Given the description of an element on the screen output the (x, y) to click on. 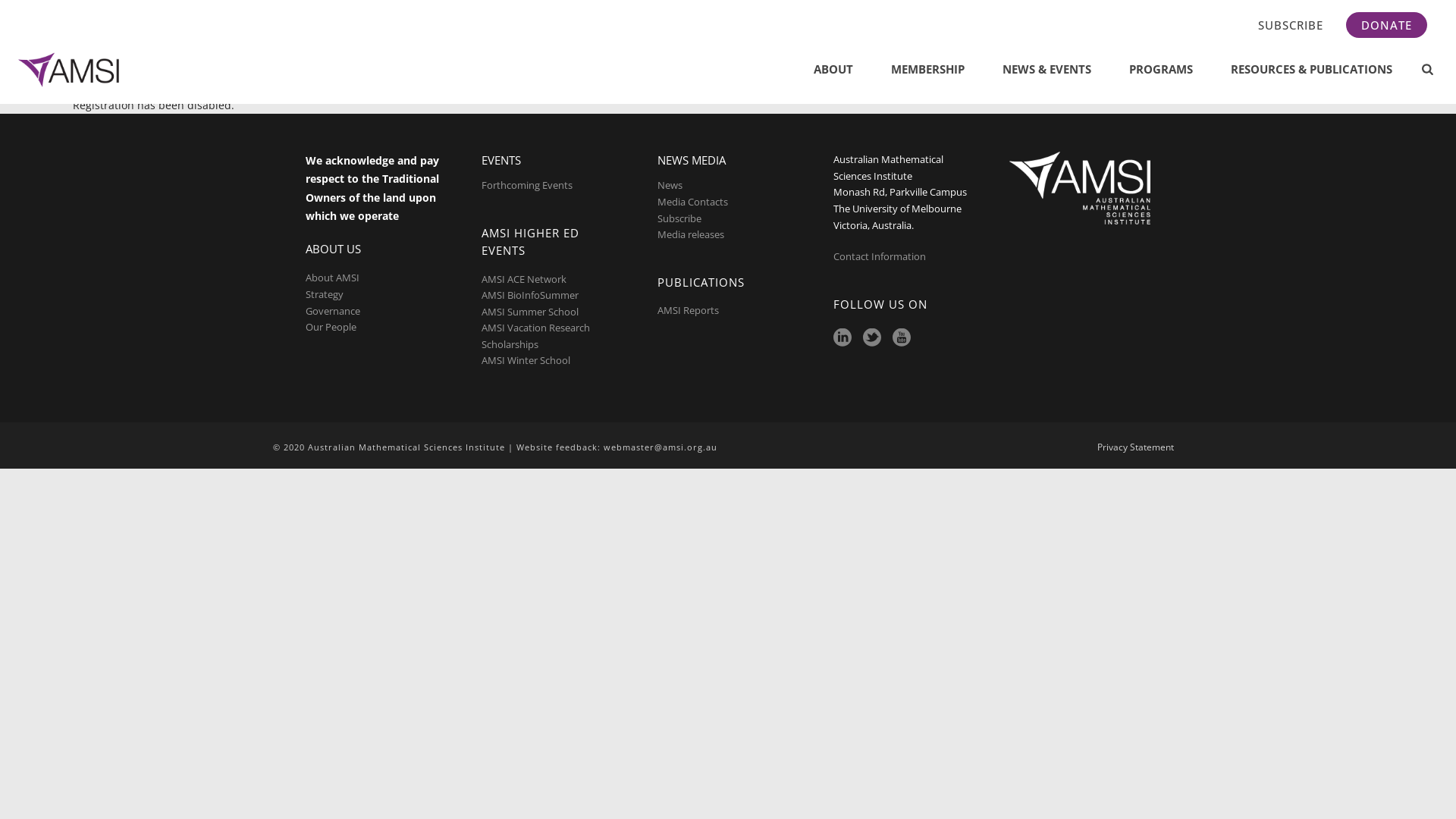
MEMBERSHIP Element type: text (927, 69)
AMSI Vacation Research Scholarships Element type: text (535, 335)
Media releases Element type: text (690, 234)
PROGRAMS Element type: text (1160, 69)
Australian Mathematical Sciences Institute Element type: hover (71, 69)
Follow Us on youtube Element type: hover (901, 338)
DONATE Element type: text (1386, 24)
Contact Information  Element type: text (880, 256)
Follow Us on twitter Element type: hover (871, 338)
News Element type: text (669, 184)
AMSI Winter School Element type: text (525, 360)
webmaster@amsi.org.au Element type: text (660, 446)
About AMSI Element type: text (332, 277)
Forthcoming Events Element type: text (526, 184)
NEWS & EVENTS Element type: text (1046, 69)
RESOURCES & PUBLICATIONS Element type: text (1311, 69)
SUBSCRIBE Element type: text (1290, 24)
Privacy Statement Element type: text (1135, 447)
AMSI Summer School Element type: text (529, 311)
Our People Element type: text (330, 326)
Media Contacts Element type: text (692, 201)
AMSI BioInfoSummer Element type: text (529, 294)
Subscribe Element type: text (679, 218)
AMSI ACE Network Element type: text (523, 278)
AMSI Reports Element type: text (687, 309)
Follow Us on linkedin Element type: hover (842, 338)
ABOUT Element type: text (833, 69)
Governance Element type: text (332, 310)
Strategy Element type: text (324, 294)
